Given the description of an element on the screen output the (x, y) to click on. 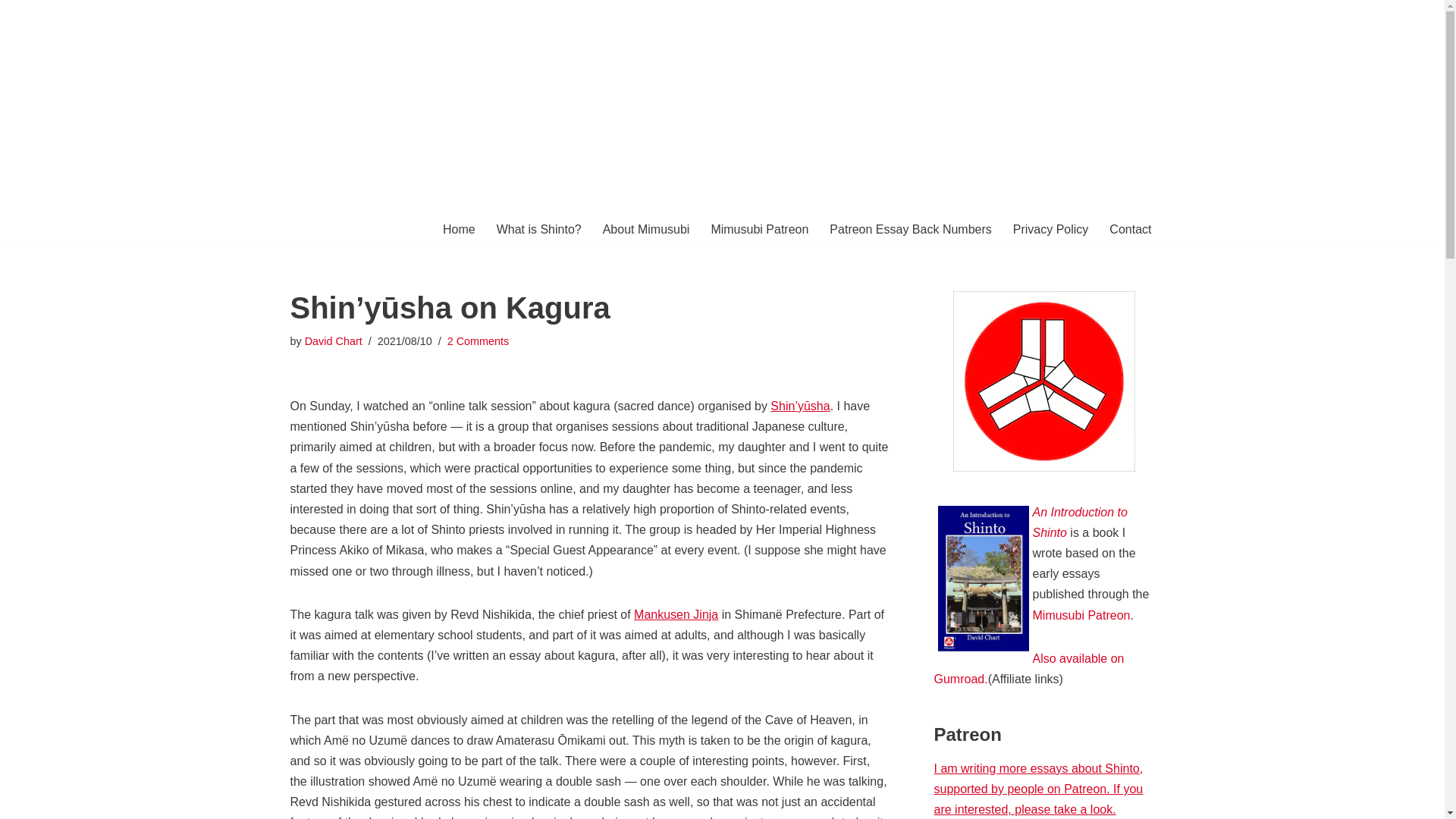
Contact (722, 142)
Also available on Gumroad. (1130, 229)
Mimusubi Patreon (1029, 668)
Patreon Essay Back Numbers (759, 229)
Mankusen Jinja (910, 229)
2 Comments (675, 614)
Mimusubi Patreon (477, 340)
Skip to content (1081, 615)
David Chart (11, 31)
